Given the description of an element on the screen output the (x, y) to click on. 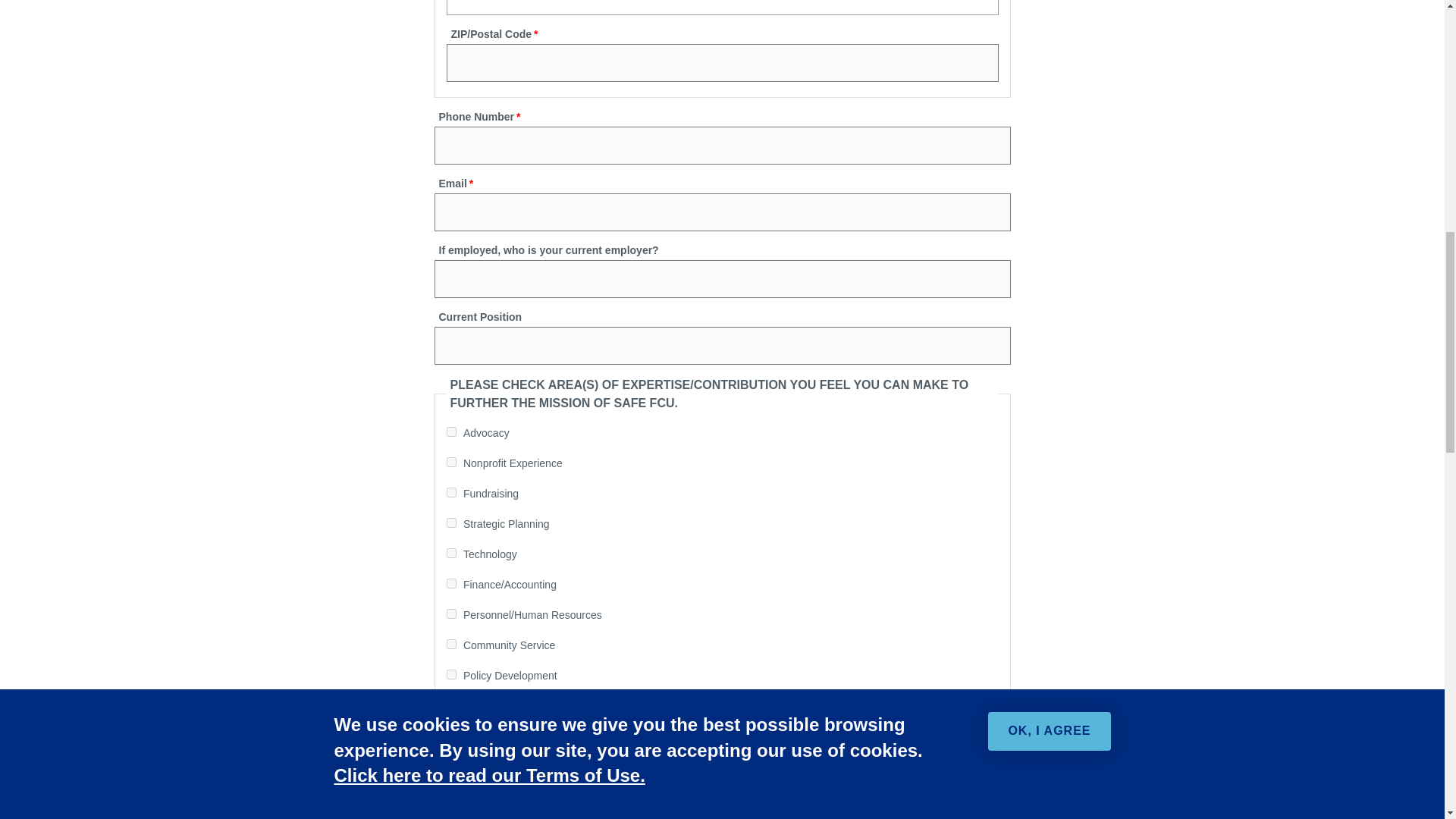
Nonprofit Experience (450, 461)
Advocacy  (450, 431)
Fundraising (450, 492)
Strategic Planning (450, 522)
Technology (450, 552)
